Given the description of an element on the screen output the (x, y) to click on. 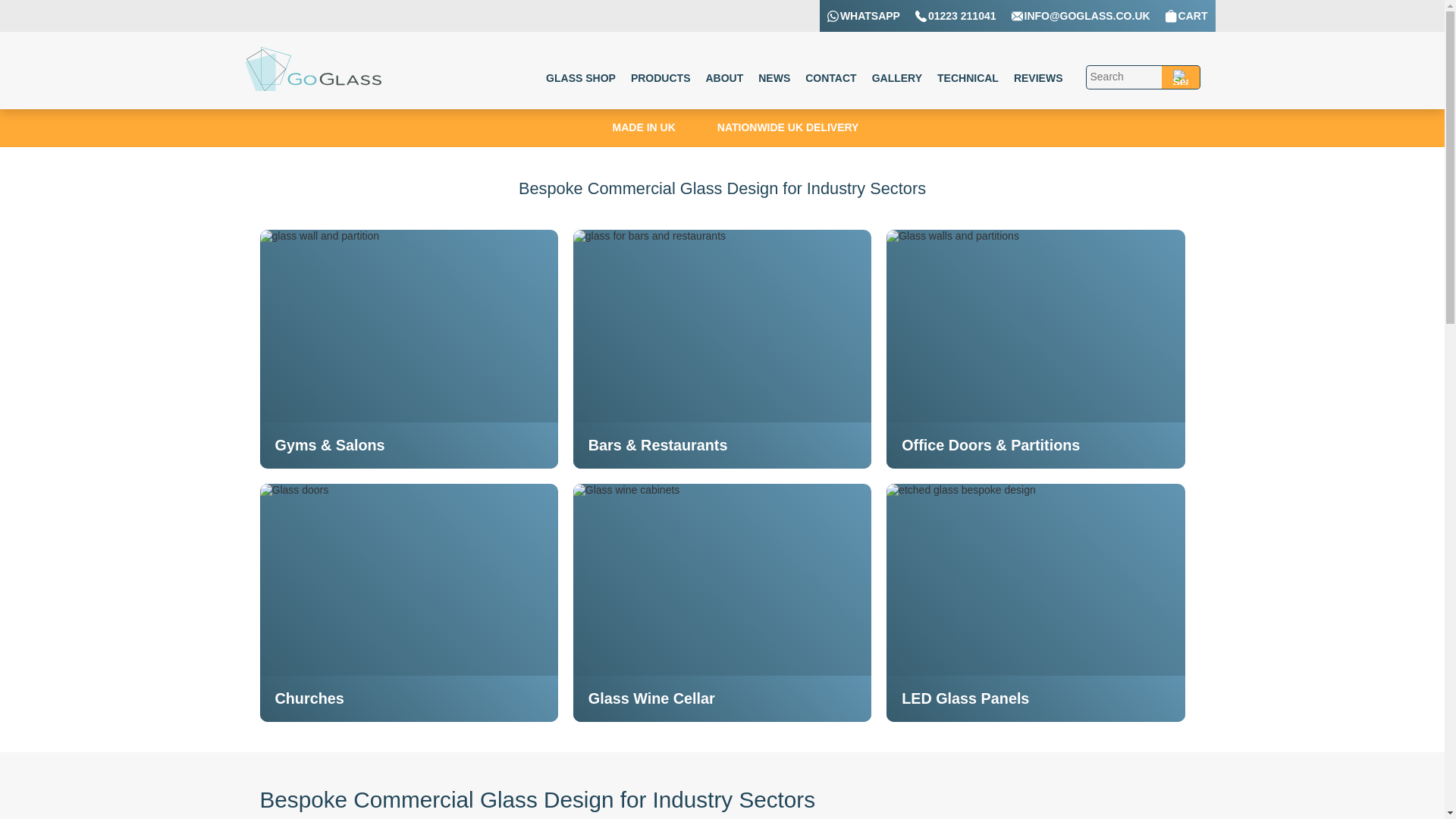
01223 211041 (955, 15)
WHATSAPPWHATSAPP (863, 15)
Return to the Go Glass homepage (312, 87)
Chat on WhatsApp (863, 15)
Products (660, 78)
GLASS SHOP (580, 78)
Glass Shop (580, 78)
WHATSAPP (832, 16)
View your cart (1187, 15)
PRODUCTS (660, 78)
CART (1187, 15)
